Given the description of an element on the screen output the (x, y) to click on. 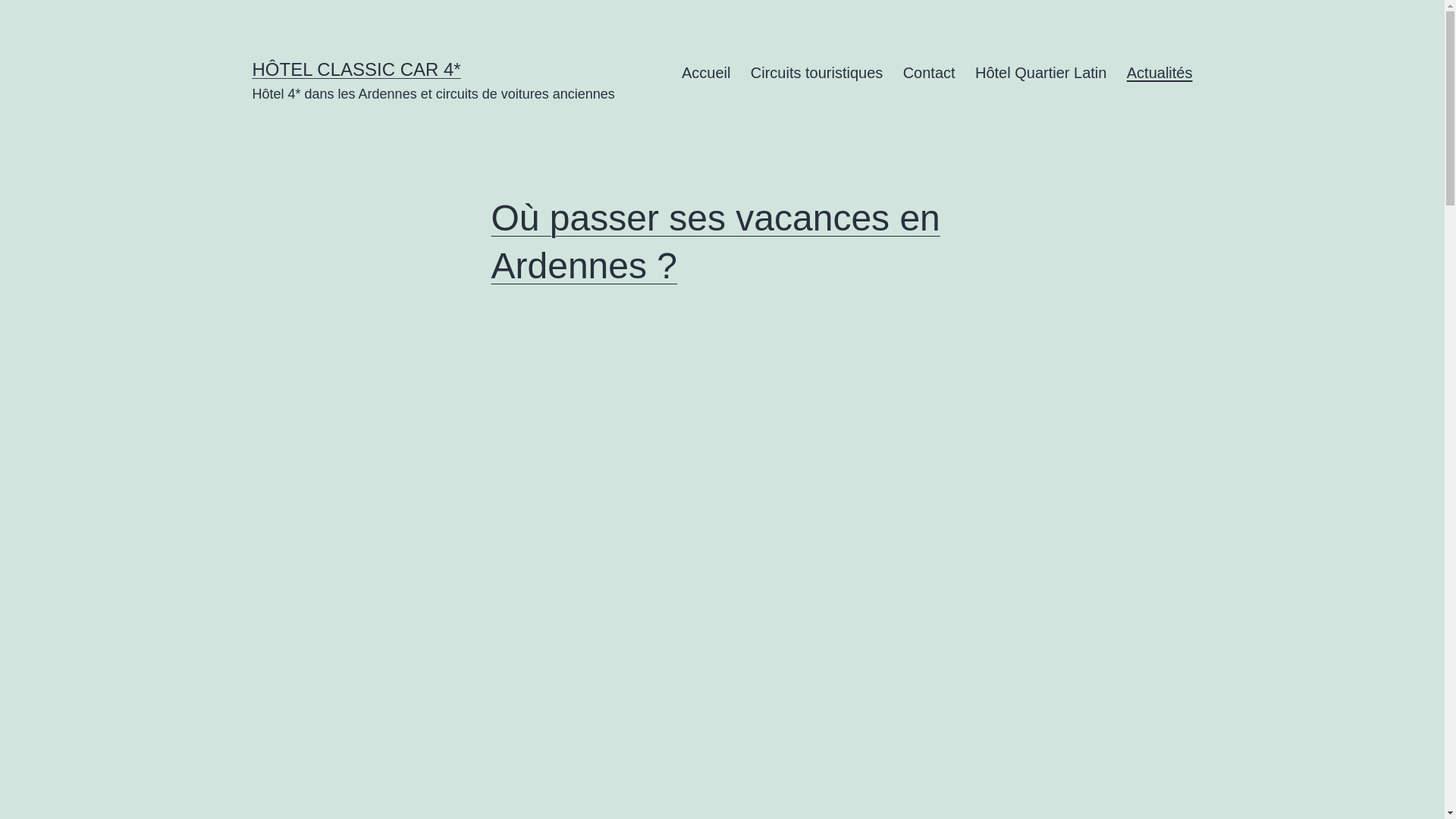
Accueil Element type: text (705, 72)
Contact Element type: text (928, 72)
Circuits touristiques Element type: text (816, 72)
